Given the description of an element on the screen output the (x, y) to click on. 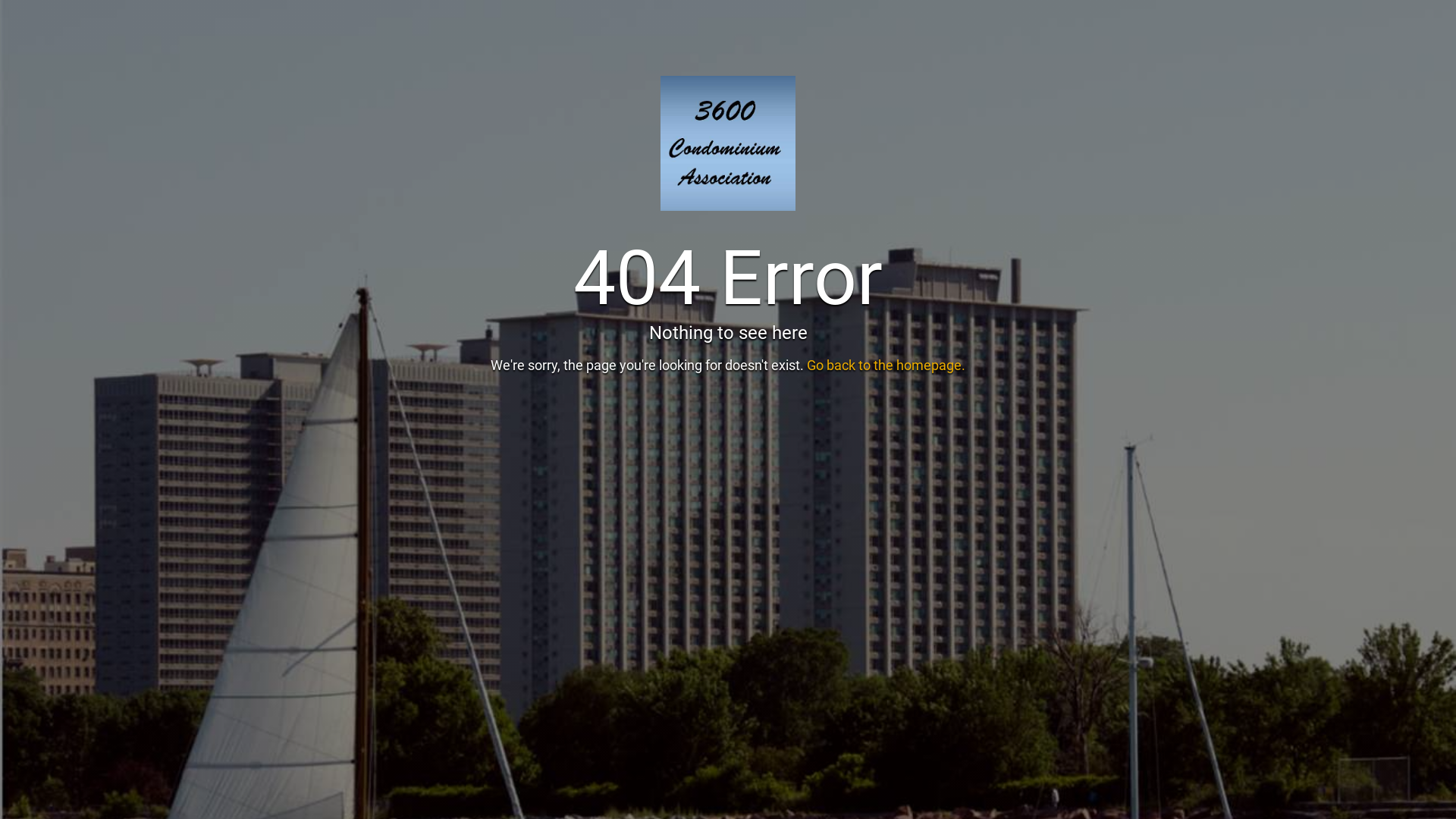
Go back to the homepage. Element type: text (885, 365)
